Given the description of an element on the screen output the (x, y) to click on. 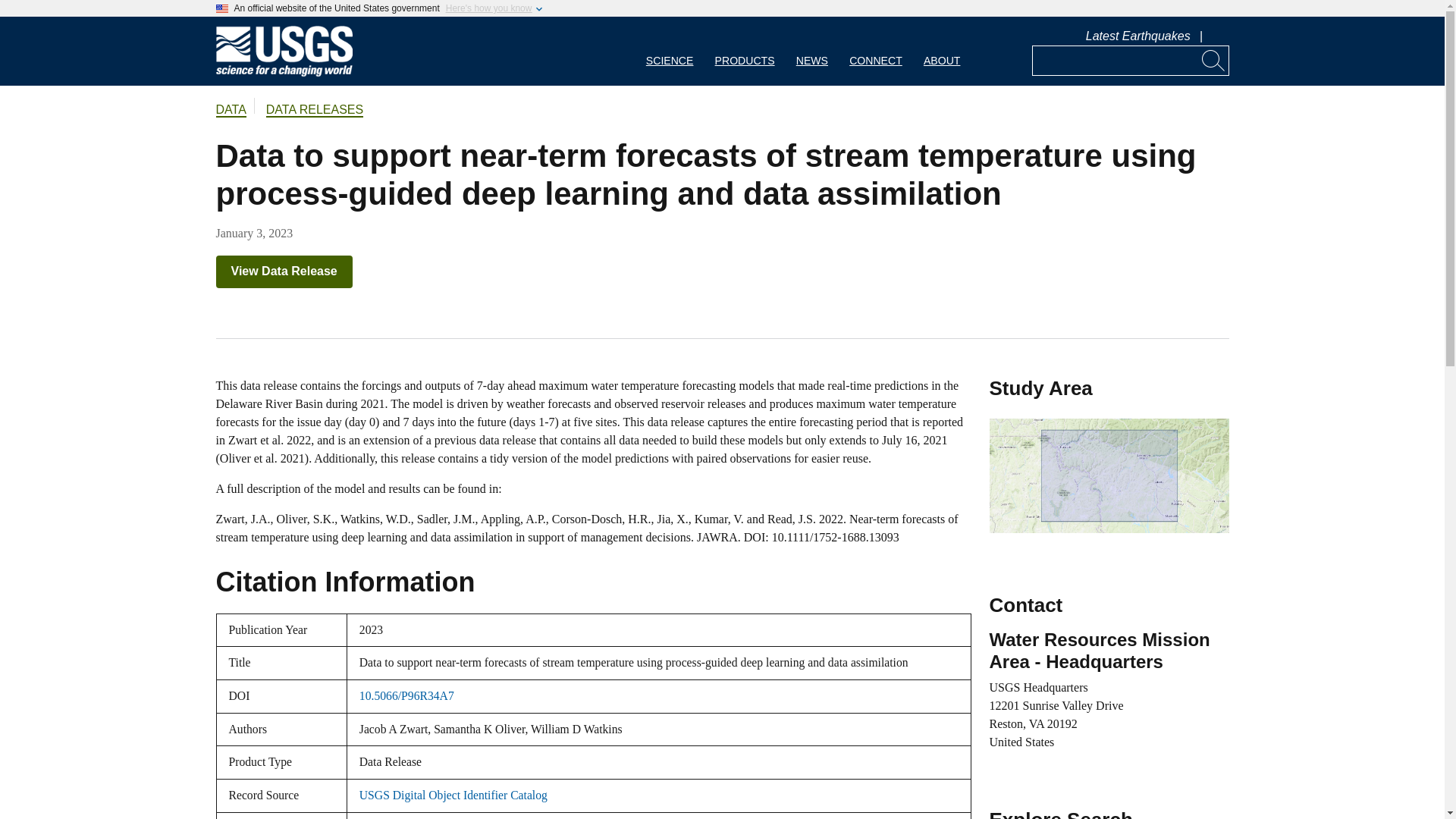
DATA (230, 110)
ABOUT (941, 50)
DATA RELEASES (314, 110)
SCIENCE (669, 50)
PRODUCTS (745, 50)
Home (283, 72)
NEWS (812, 50)
Latest Earthquakes (1138, 35)
CONNECT (875, 50)
Here's how you know (488, 8)
View Data Release (283, 271)
